Given the description of an element on the screen output the (x, y) to click on. 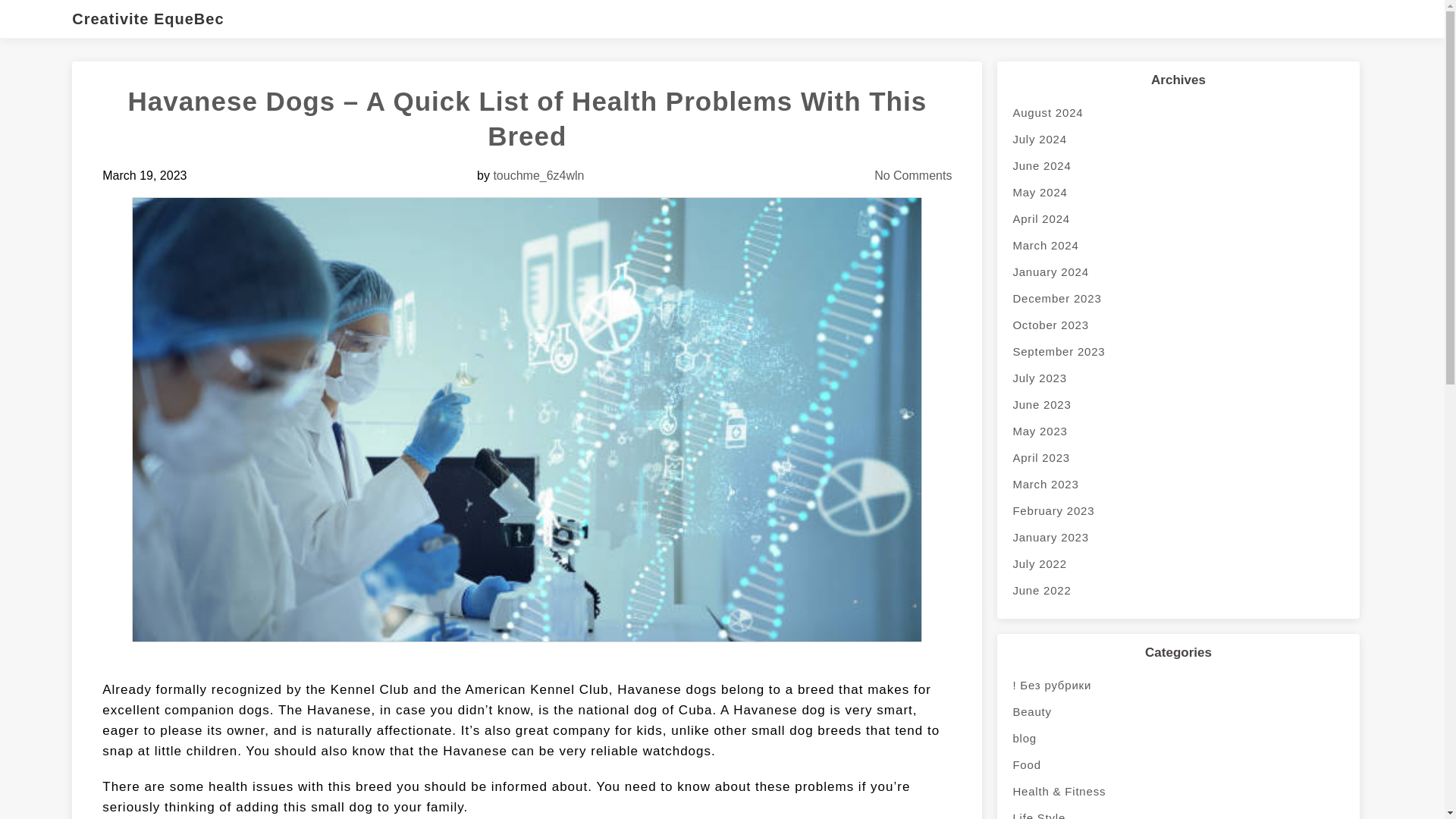
June 2022 (1177, 590)
April 2024 (1177, 218)
January 2024 (1177, 271)
Creativite EqueBec (154, 18)
May 2024 (1177, 192)
September 2023 (1177, 351)
January 2023 (1177, 537)
Beauty (1177, 711)
December 2023 (1177, 298)
No Comments (913, 174)
